Given the description of an element on the screen output the (x, y) to click on. 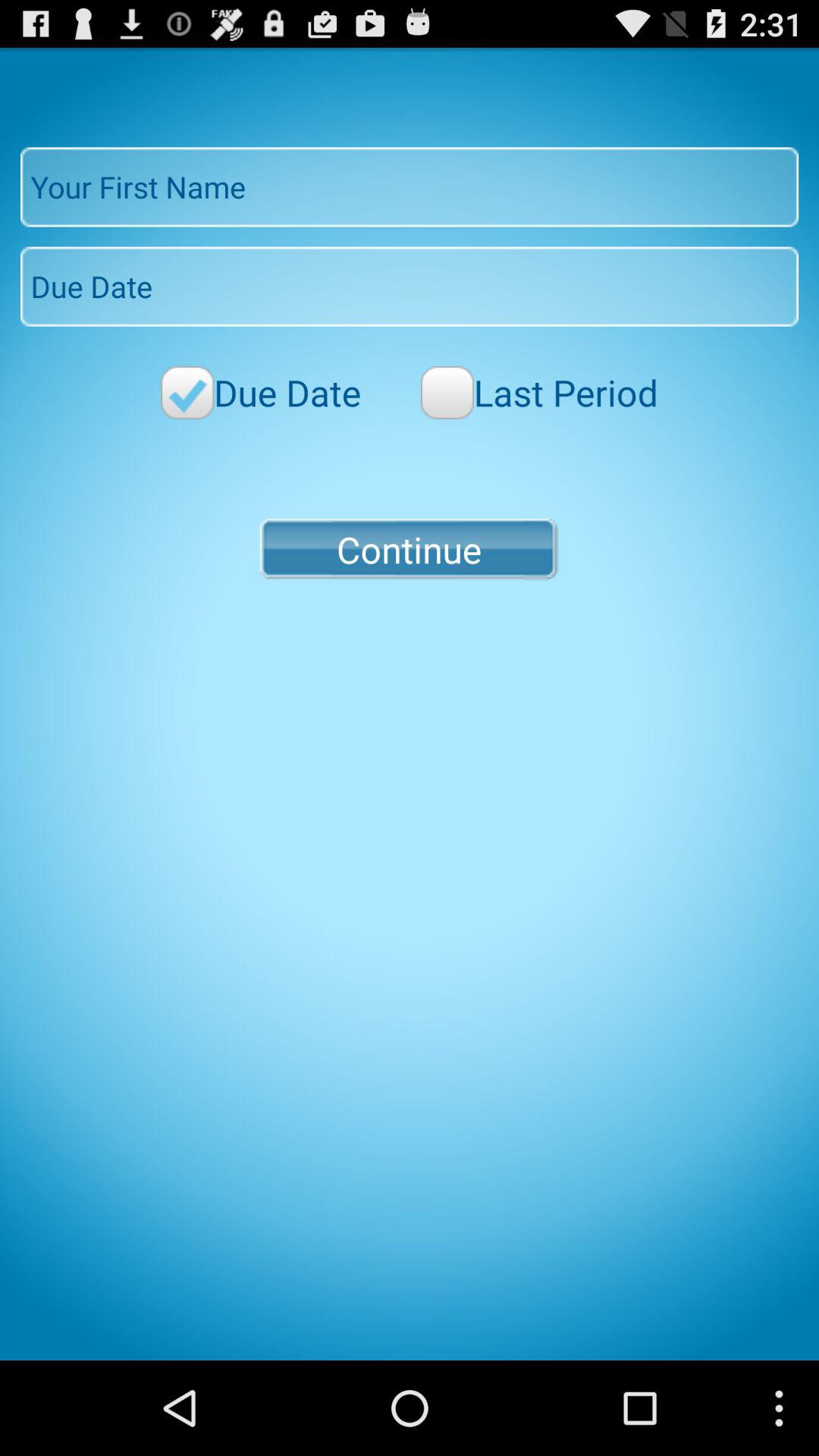
press icon to the right of due date radio button (539, 392)
